Given the description of an element on the screen output the (x, y) to click on. 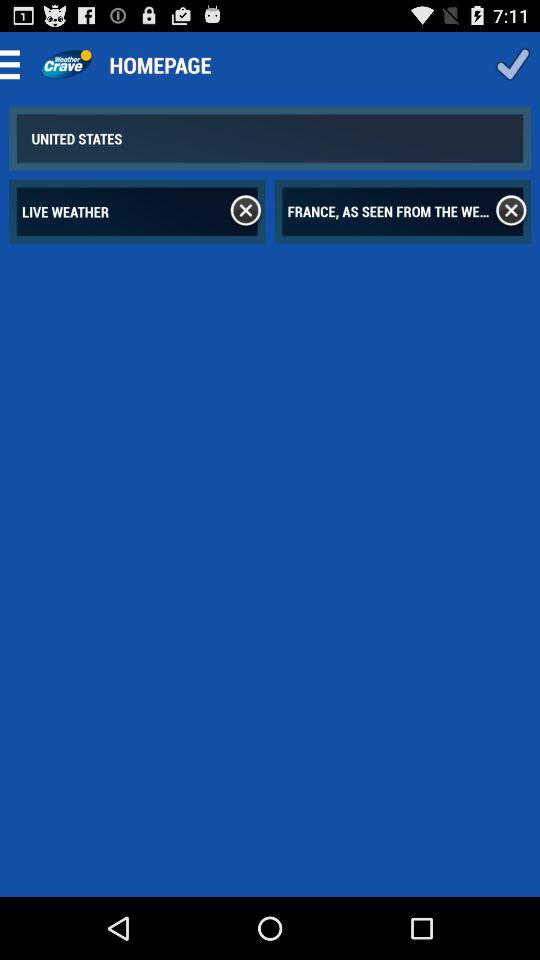
main menu (16, 63)
